Given the description of an element on the screen output the (x, y) to click on. 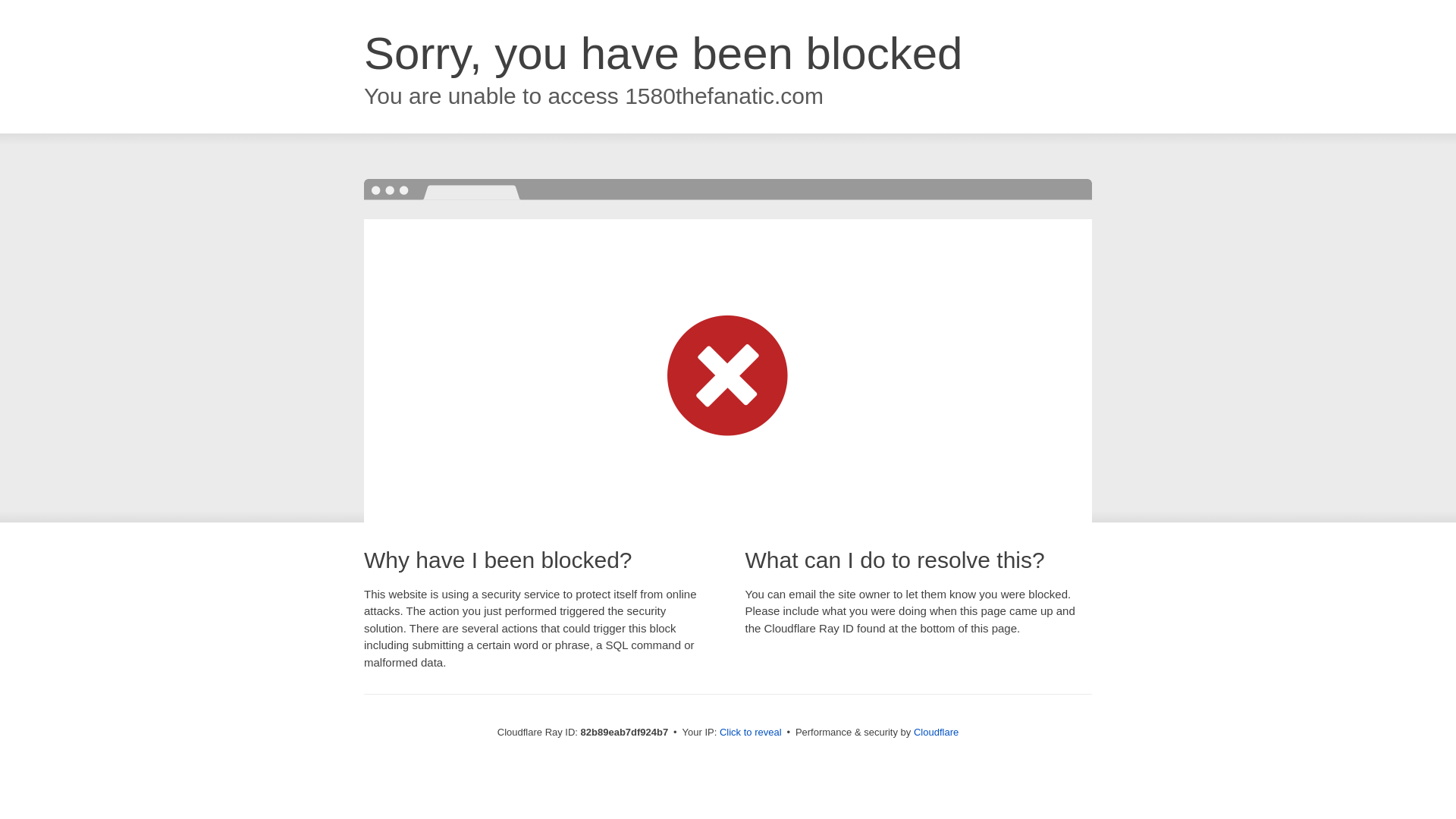
Click to reveal Element type: text (750, 732)
Cloudflare Element type: text (935, 731)
